Given the description of an element on the screen output the (x, y) to click on. 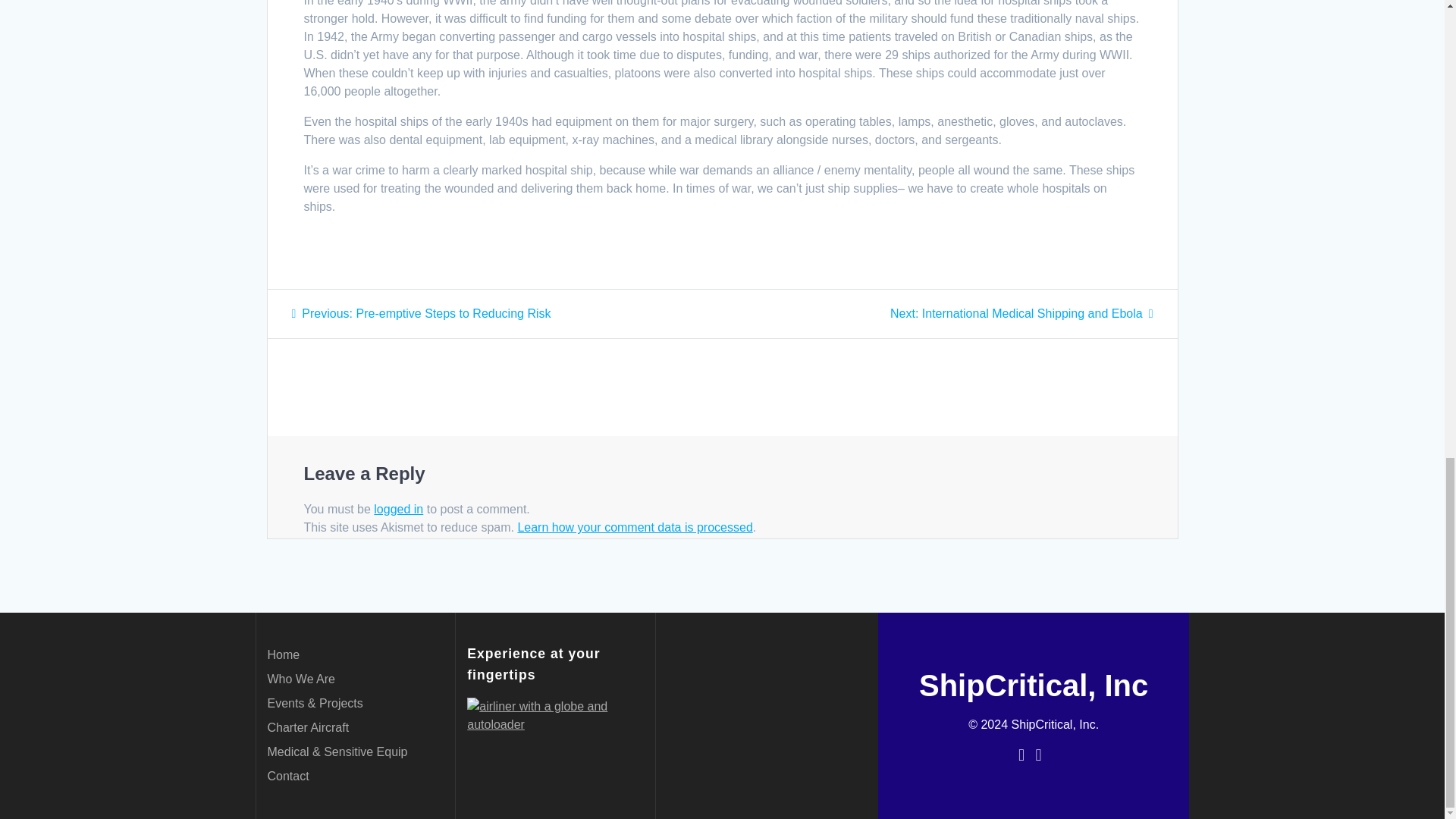
Learn how your comment data is processed (634, 526)
Charter Aircraft (420, 313)
Home (307, 727)
Who We Are (282, 654)
Contact (300, 678)
logged in (287, 775)
